Given the description of an element on the screen output the (x, y) to click on. 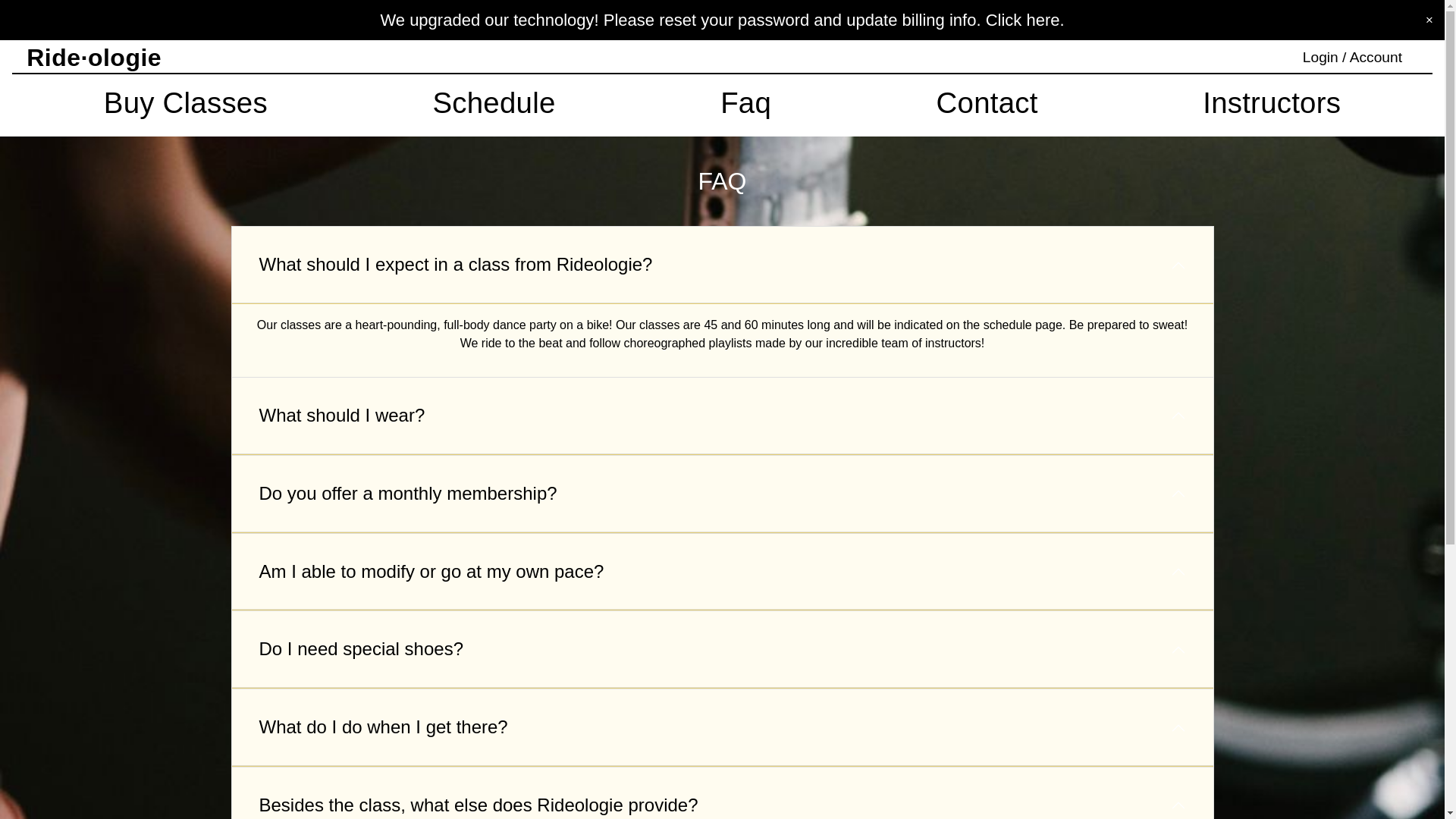
Instructors (1271, 102)
Do I need special shoes? (721, 649)
Am I able to modify or go at my own pace? (721, 571)
Besides the class, what else does Rideologie provide? (721, 793)
What do I do when I get there? (721, 727)
What should I expect in a class from Rideologie? (721, 264)
Schedule (493, 102)
Buy Classes (185, 102)
Do you offer a monthly membership? (721, 494)
